Given the description of an element on the screen output the (x, y) to click on. 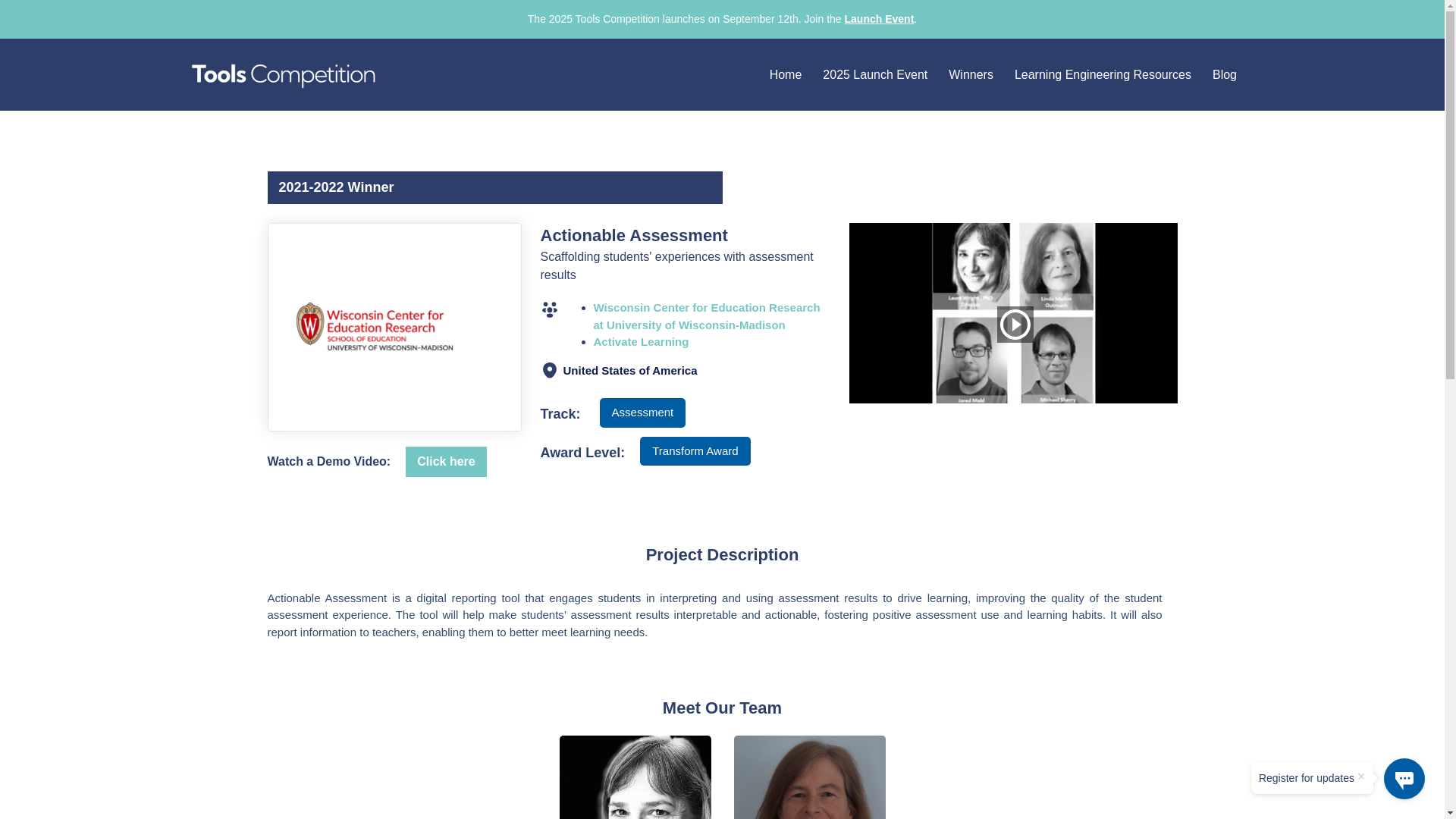
Launch Event (879, 19)
Activate Learning (640, 341)
Winners (970, 74)
Home (785, 74)
Learning Engineering Resources (1103, 74)
2025 Launch Event (874, 74)
Click here (446, 461)
Blog (1224, 74)
